Given the description of an element on the screen output the (x, y) to click on. 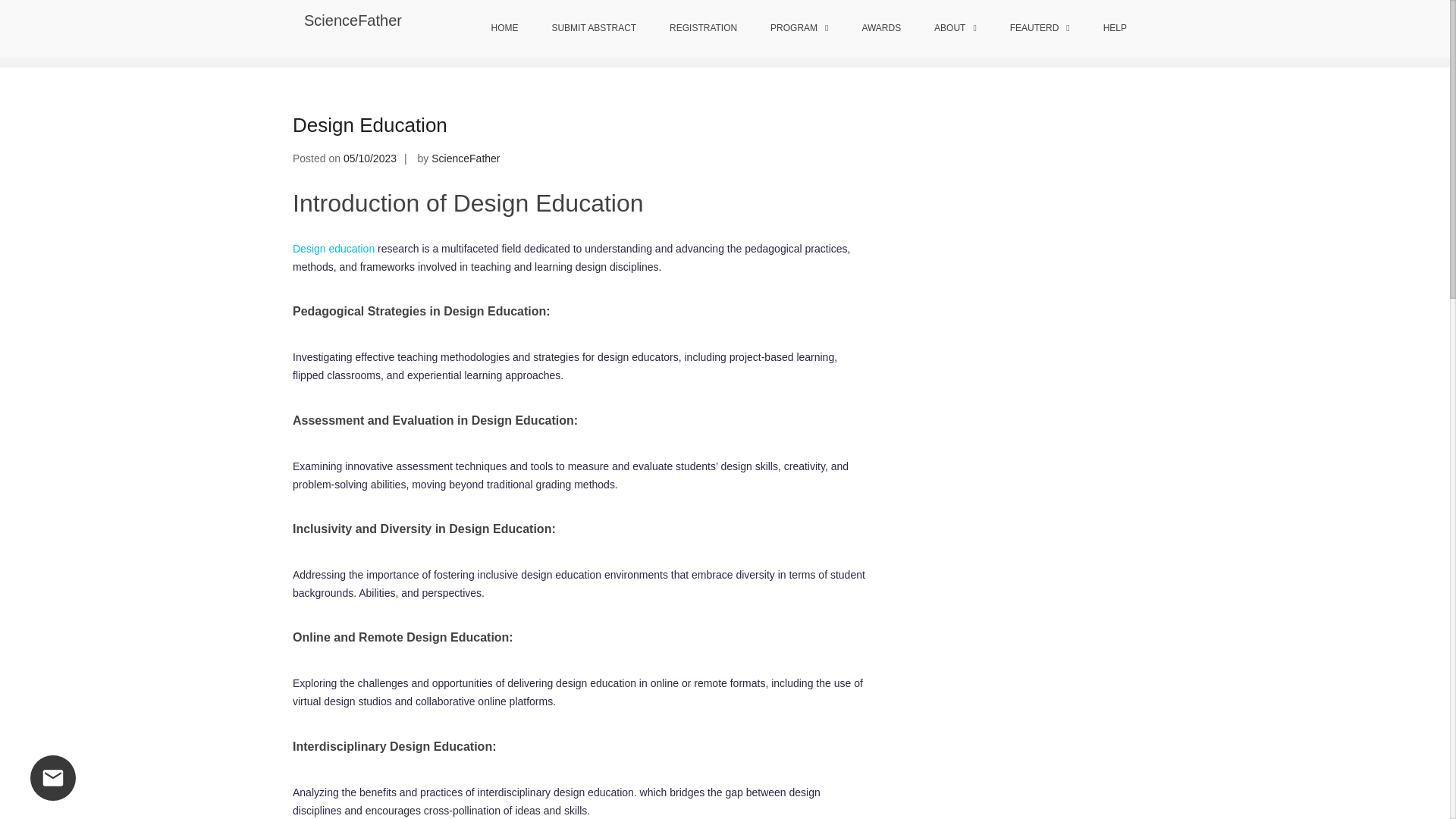
AWARDS (880, 28)
HELP (1114, 28)
Design Education (369, 124)
PROGRAM (799, 28)
REGISTRATION (702, 28)
HOME (505, 28)
Design education (333, 248)
Leave a message (52, 777)
ScienceFather (464, 158)
FEAUTERD (1039, 28)
